Given the description of an element on the screen output the (x, y) to click on. 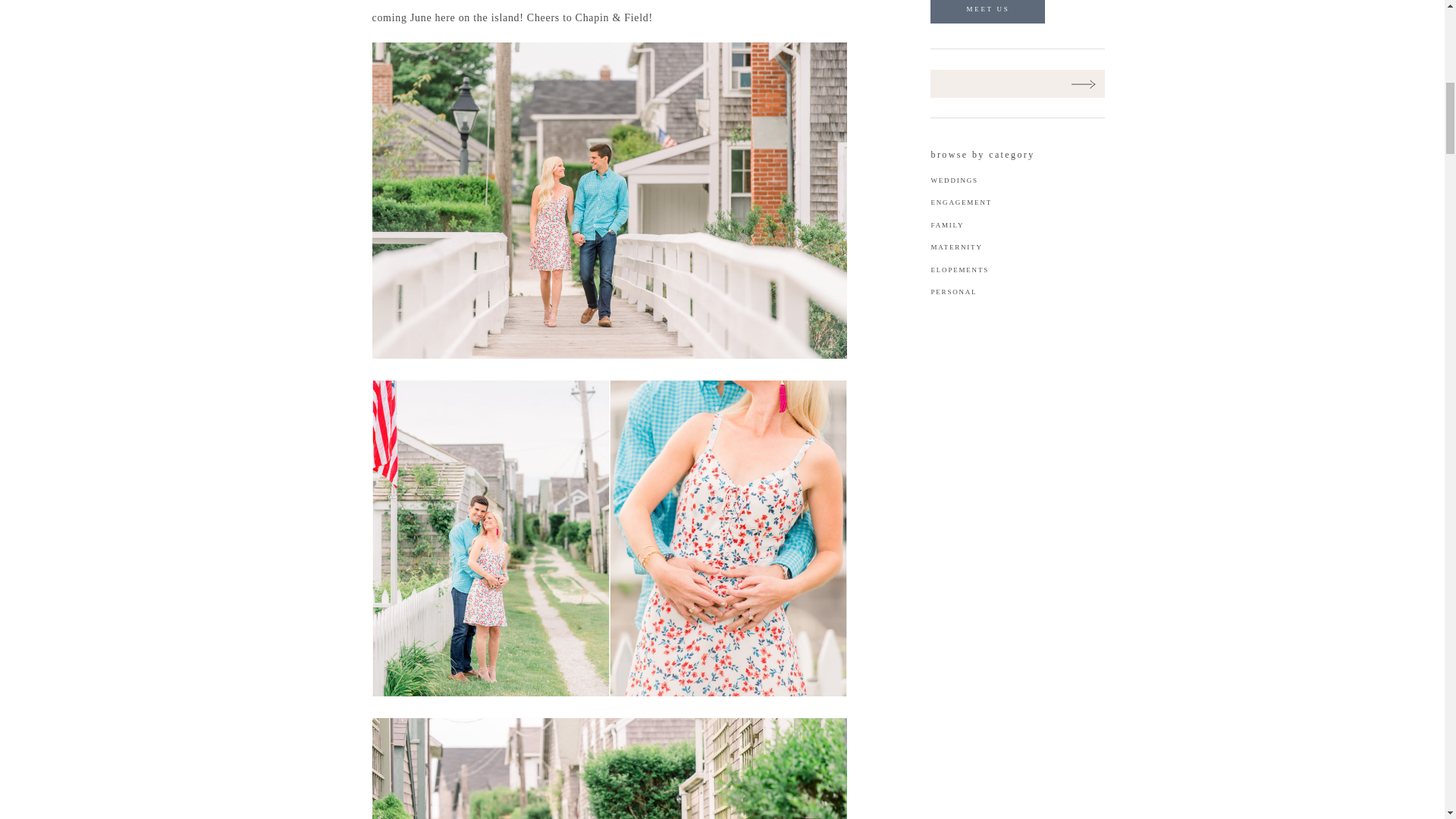
MEET US (988, 10)
ENGAGEMENT (971, 202)
ELOPEMENTS (970, 269)
FAMILY (951, 224)
PERSONAL (976, 291)
WEDDINGS (957, 180)
MATERNITY (959, 246)
